Given the description of an element on the screen output the (x, y) to click on. 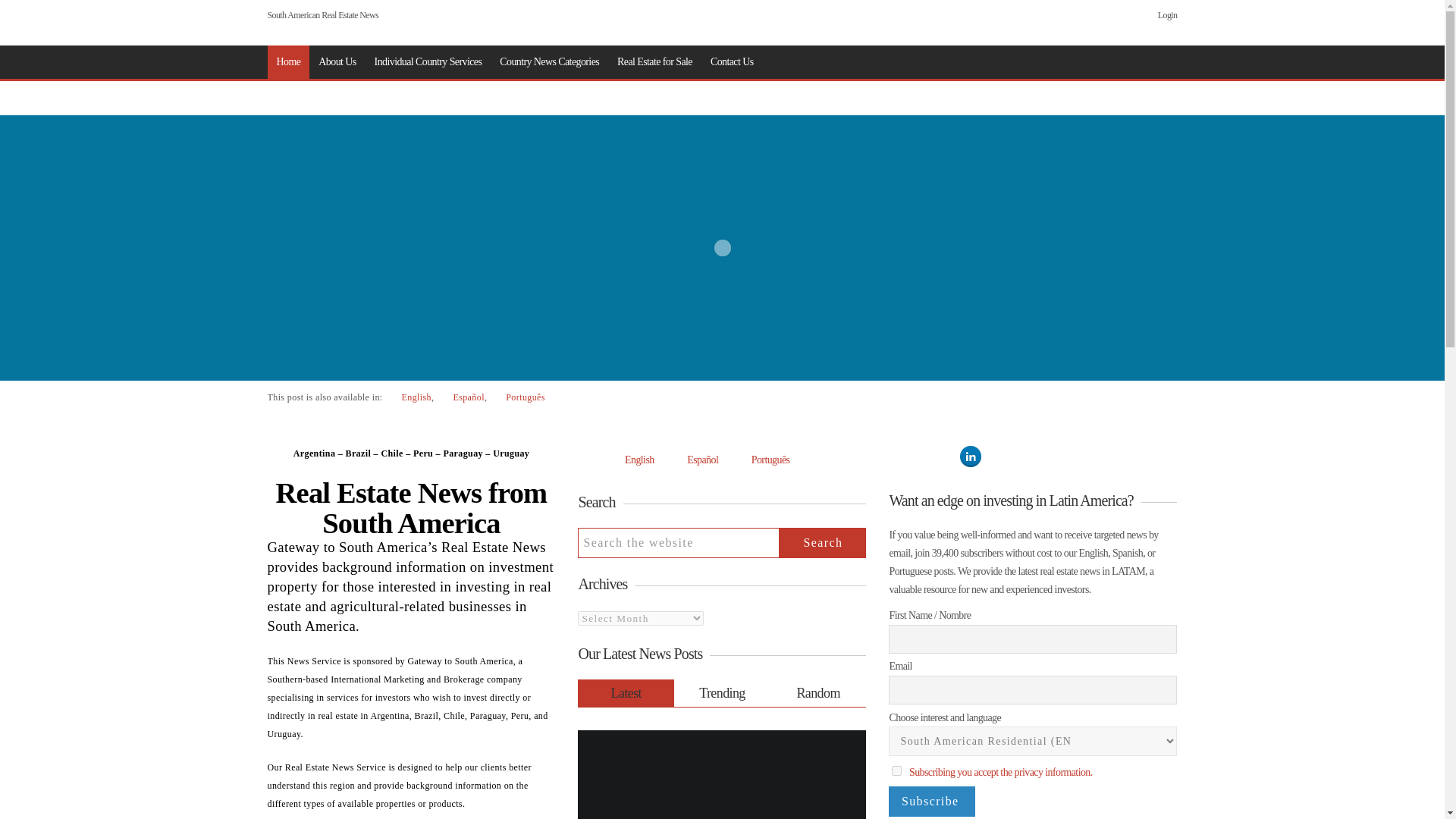
on (896, 770)
English (407, 396)
Search the website (678, 542)
Real Estate Property Web Site (654, 61)
Home (287, 61)
Have some questions ? (731, 61)
Login (1167, 14)
Search (822, 542)
Who is Gateway to South America ? (336, 61)
Subscribe  (931, 801)
